Given the description of an element on the screen output the (x, y) to click on. 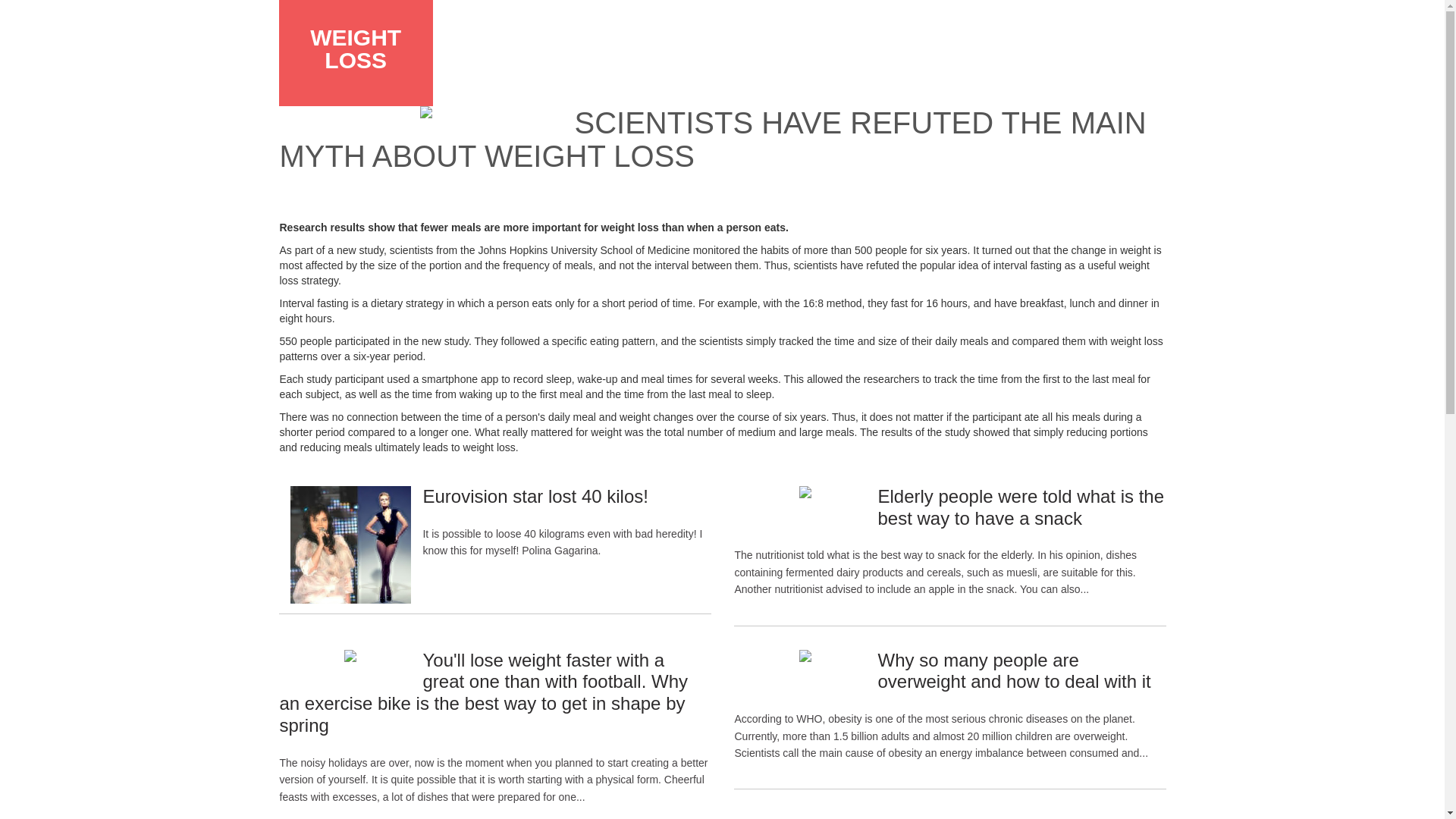
Why so many people are overweight and how to deal with it (1013, 671)
Eurovision star lost 40 kilos! (534, 496)
WEIGHT LOSS (355, 48)
